Given the description of an element on the screen output the (x, y) to click on. 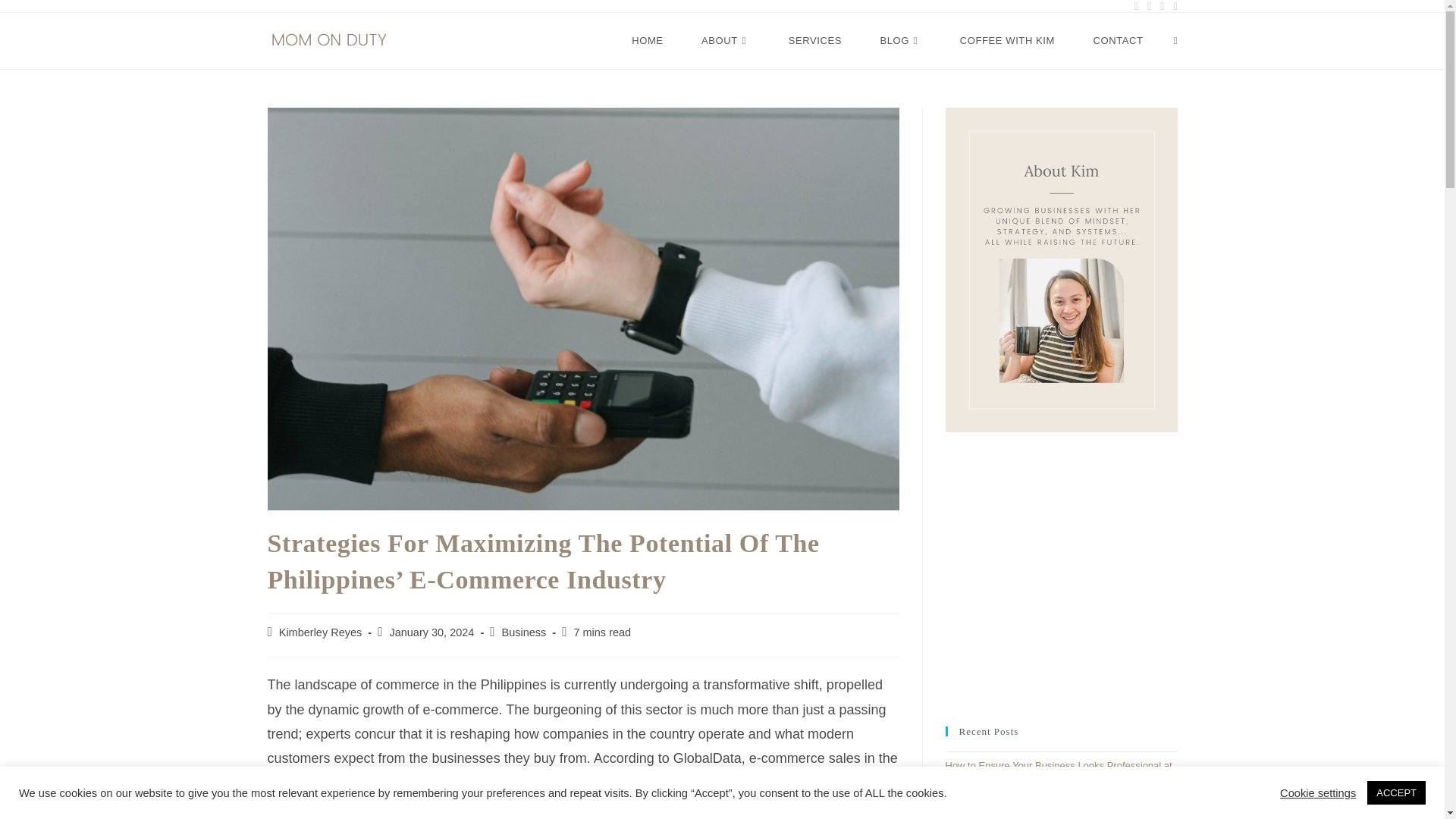
Business (524, 632)
ABOUT (726, 40)
Posts by Kimberley Reyes (320, 632)
SERVICES (814, 40)
Kimberley Reyes (320, 632)
COFFEE WITH KIM (1007, 40)
BLOG (900, 40)
CONTACT (1117, 40)
Advertisement (1058, 576)
HOME (647, 40)
